Given the description of an element on the screen output the (x, y) to click on. 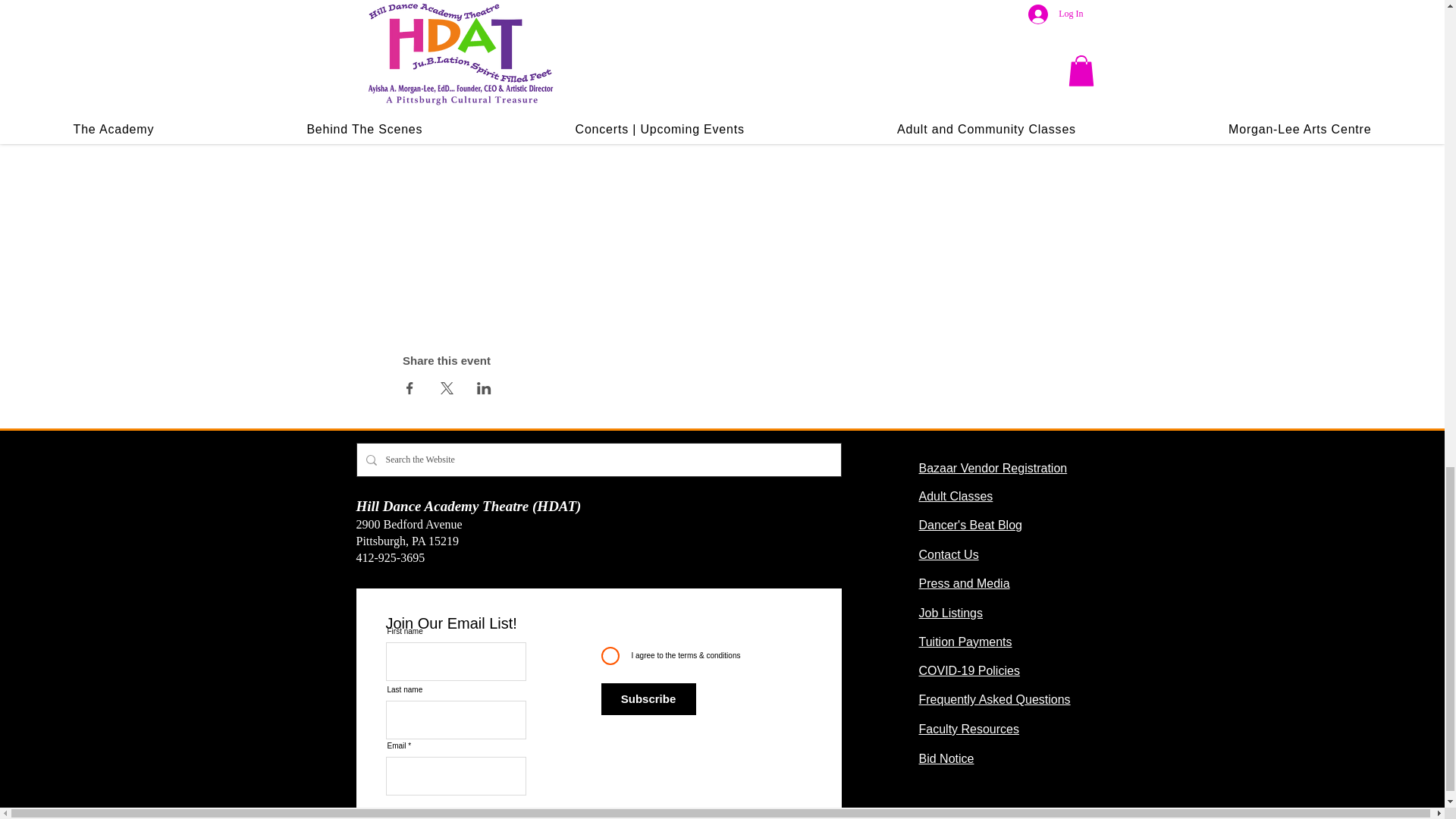
412-925-3695 (390, 557)
Adult Classes (955, 495)
Press and Media (964, 583)
Bid Notice (946, 758)
Subscribe (647, 698)
COVID-19 Policies (969, 670)
Faculty Resources (969, 728)
Frequently Asked Questions (994, 698)
Job Listings (951, 612)
Bazaar Vendor Registration (992, 468)
Dancer's Beat Blog (970, 524)
Tuition Payments (964, 641)
Contact Us (948, 554)
